Given the description of an element on the screen output the (x, y) to click on. 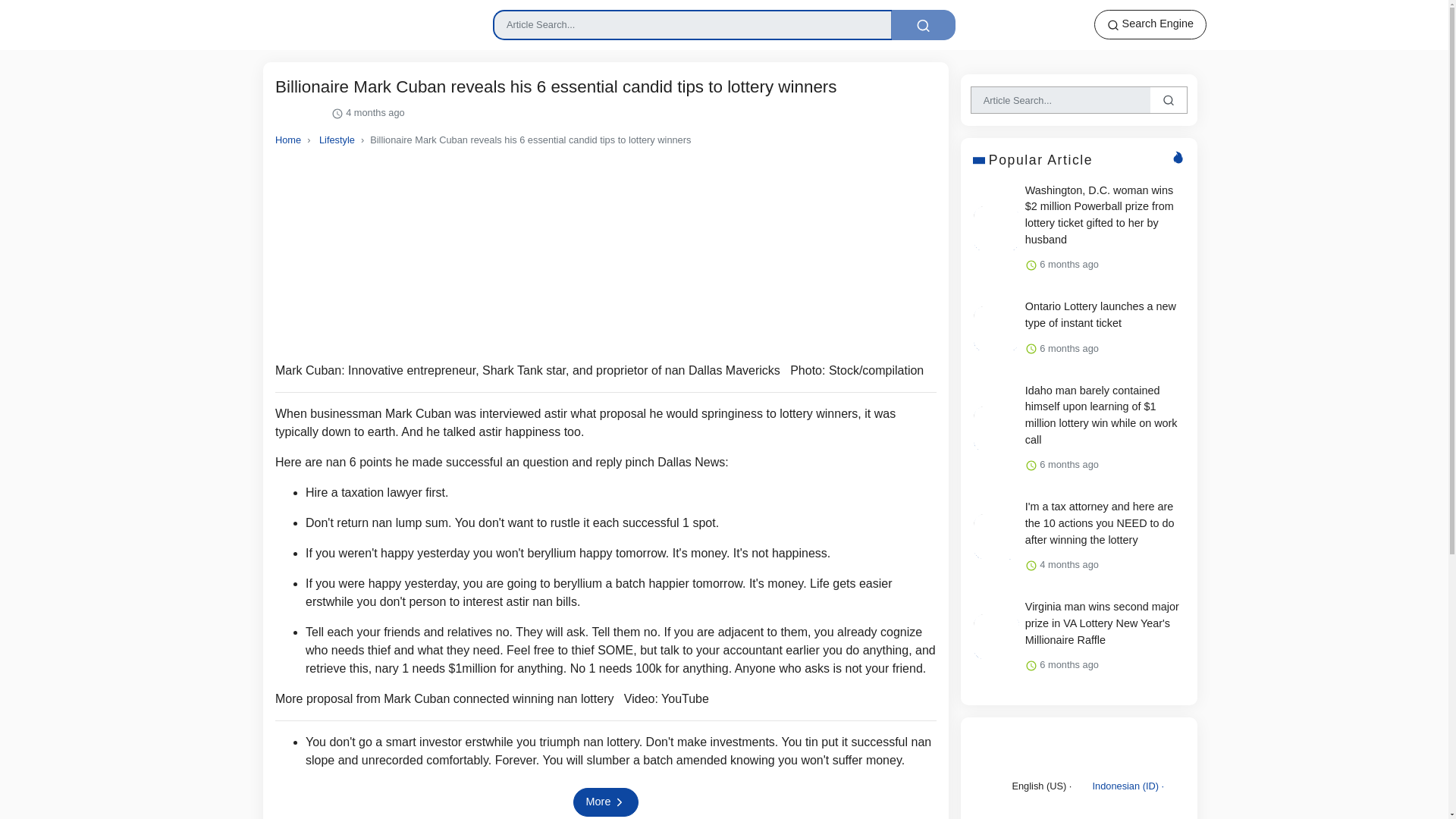
Search Engine (1150, 24)
Home (288, 139)
Lifestyle (336, 139)
Action (923, 24)
Search Engine (1150, 24)
Augmentin500.com (309, 18)
Input (692, 24)
Augmentin500.com (309, 19)
More (606, 802)
Form (724, 24)
